Given the description of an element on the screen output the (x, y) to click on. 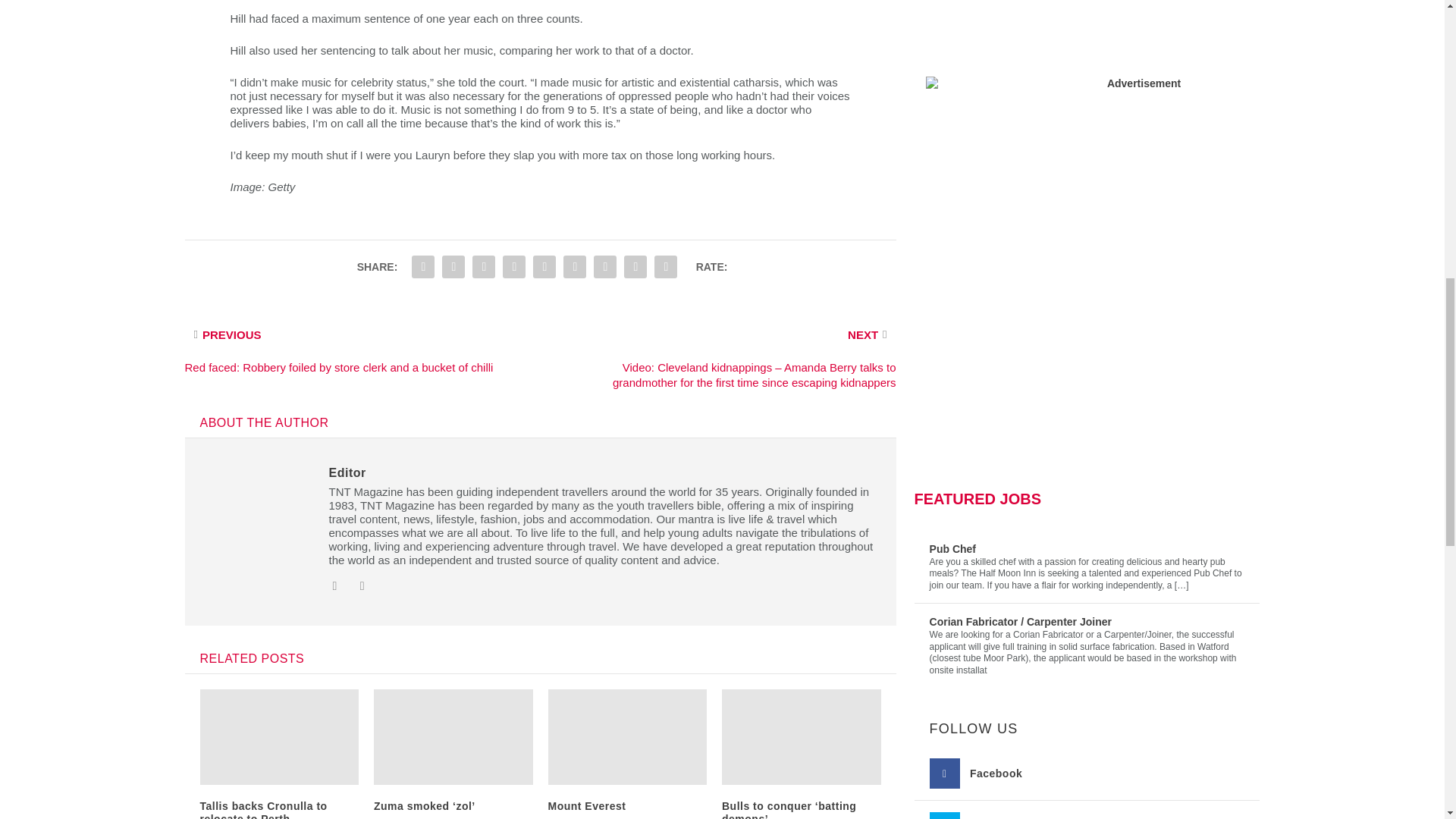
Tallis backs Cronulla to relocate to Perth (263, 809)
Editor (347, 472)
Mount Everest (586, 806)
